Given the description of an element on the screen output the (x, y) to click on. 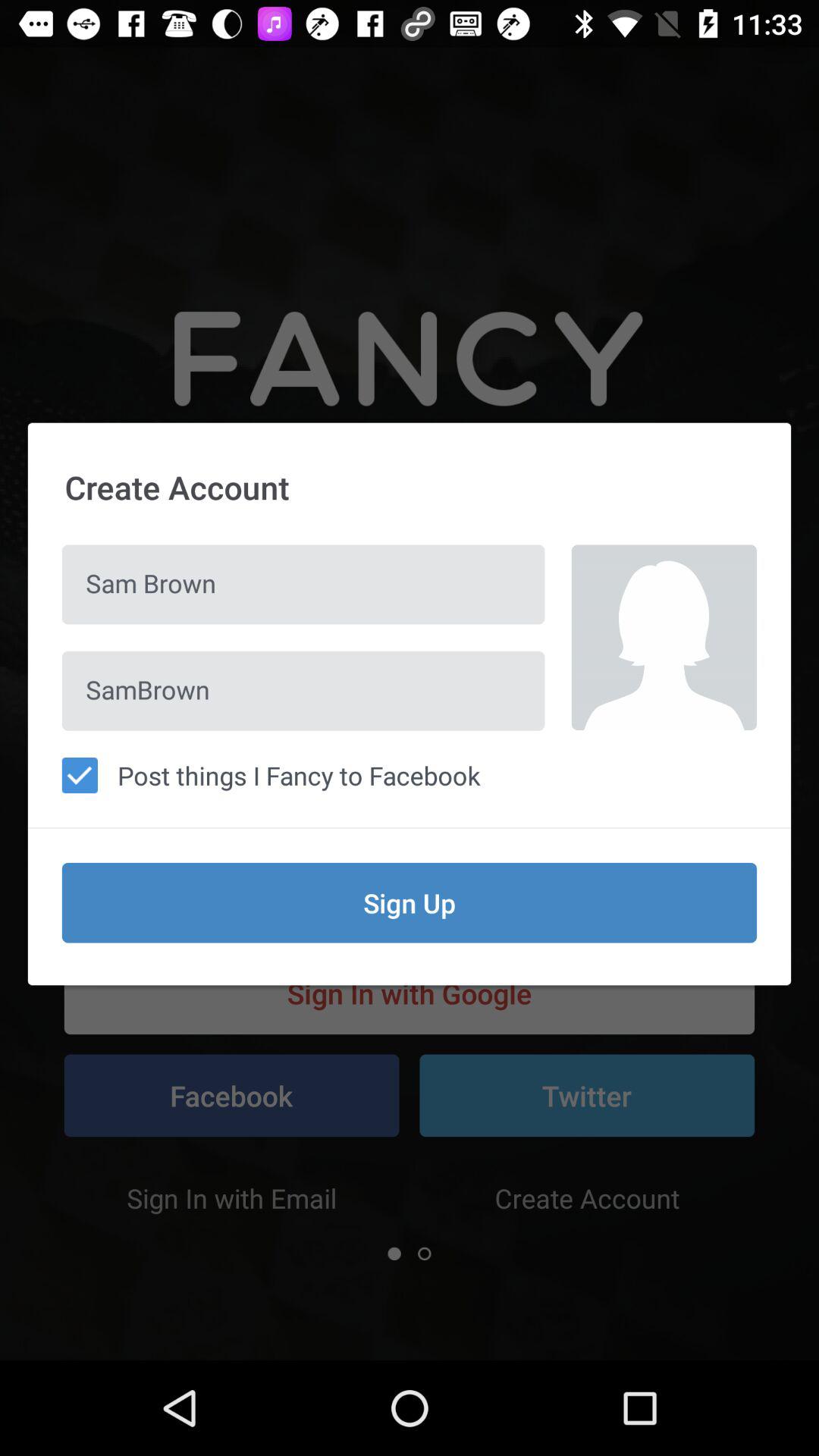
choose sam brown icon (302, 584)
